Given the description of an element on the screen output the (x, y) to click on. 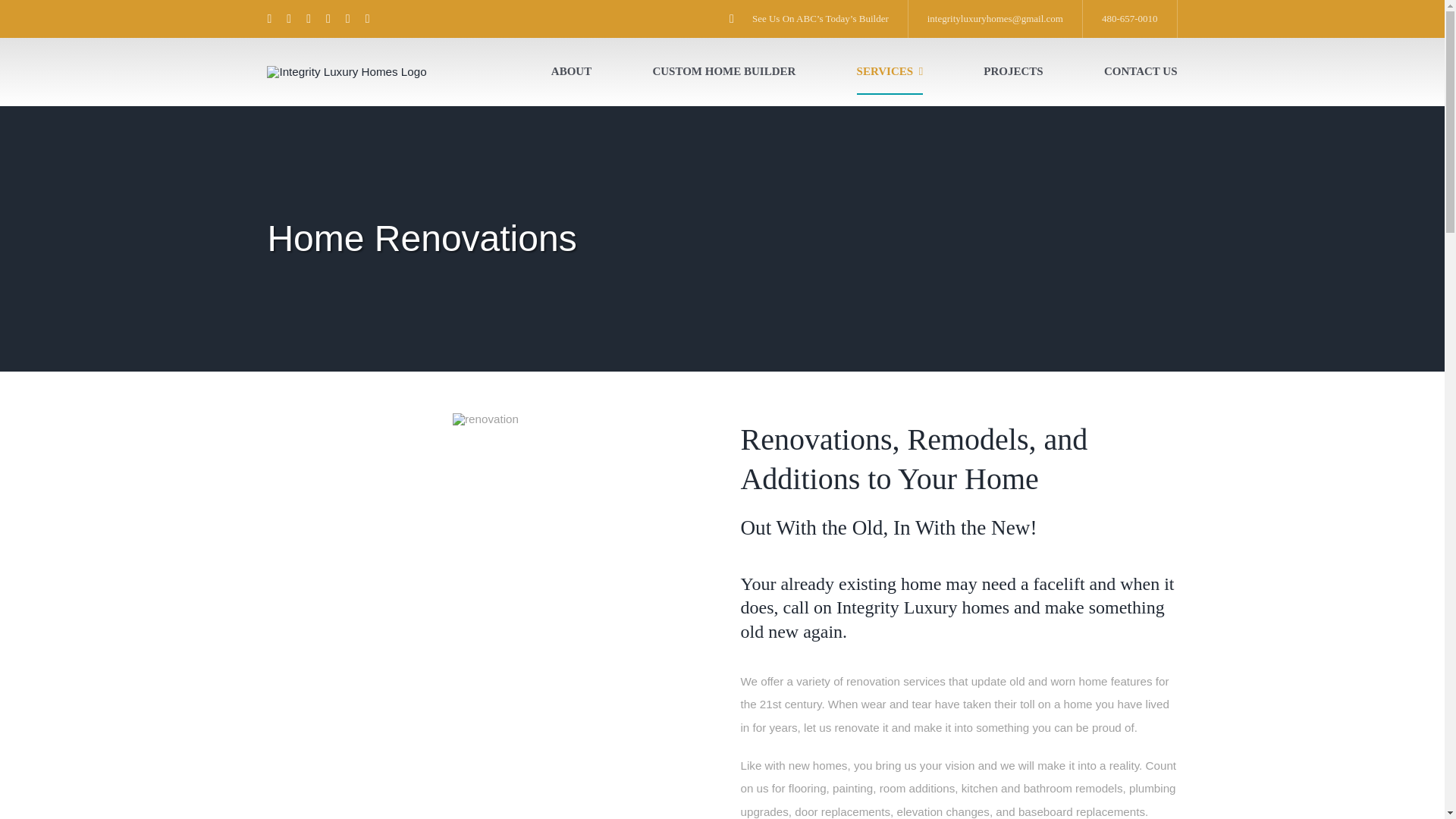
CUSTOM HOME BUILDER (723, 72)
PROJECTS (1013, 72)
480-657-0010 (1130, 18)
SERVICES (890, 72)
CONTACT US (1140, 72)
